Given the description of an element on the screen output the (x, y) to click on. 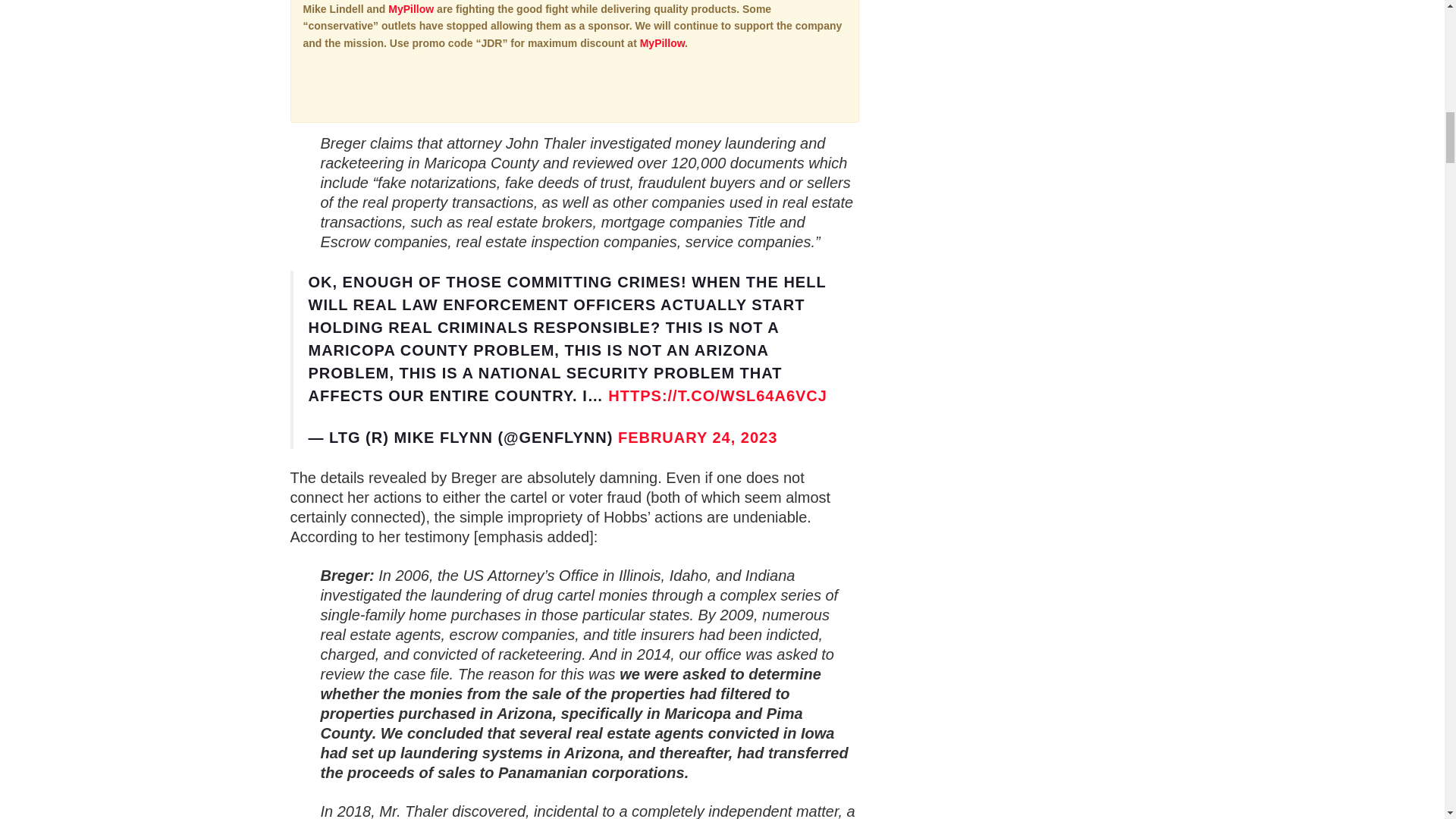
MyPillow (410, 9)
